Given the description of an element on the screen output the (x, y) to click on. 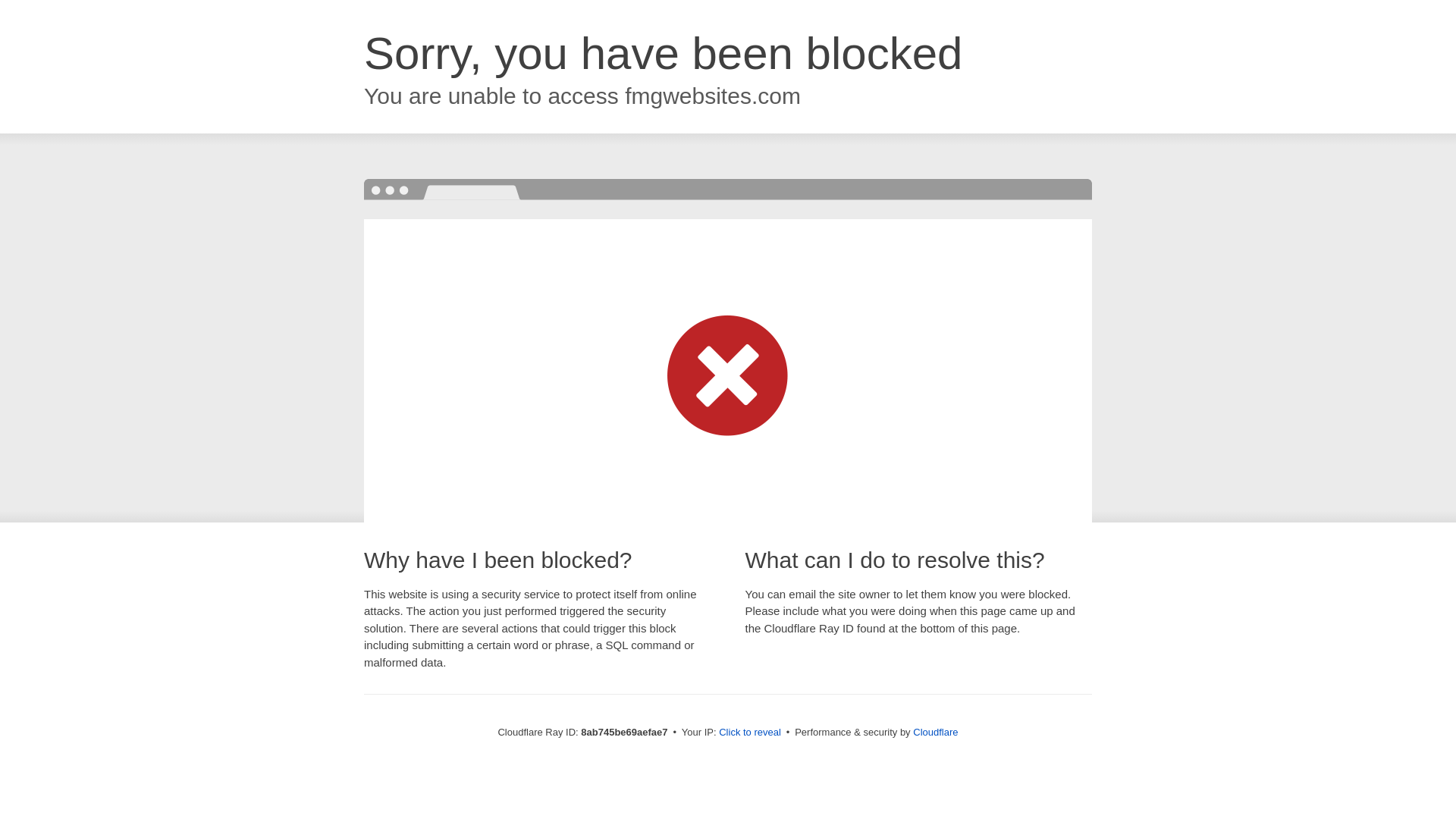
Click to reveal (749, 732)
Cloudflare (935, 731)
